Given the description of an element on the screen output the (x, y) to click on. 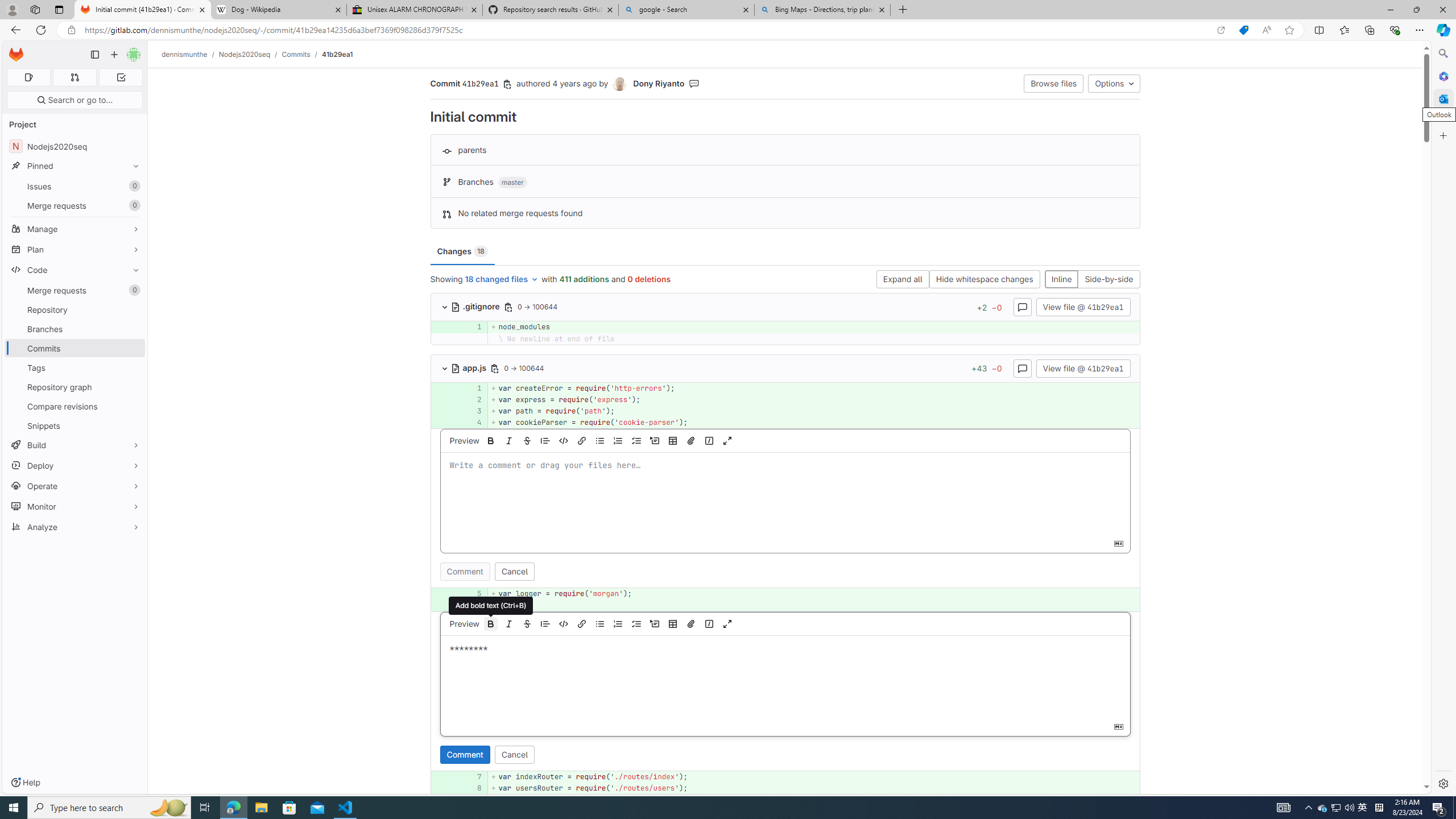
Cancel (514, 754)
Primary navigation sidebar (94, 54)
Repository graph (74, 386)
1 (471, 387)
Merge requests 0 (74, 289)
6 (472, 605)
Operate (74, 485)
+ var path = require('path');  (813, 410)
Commits (295, 53)
AutomationID: 4a68969ef8e858229267b842dedf42ab5dde4d50_0_6 (785, 605)
